Given the description of an element on the screen output the (x, y) to click on. 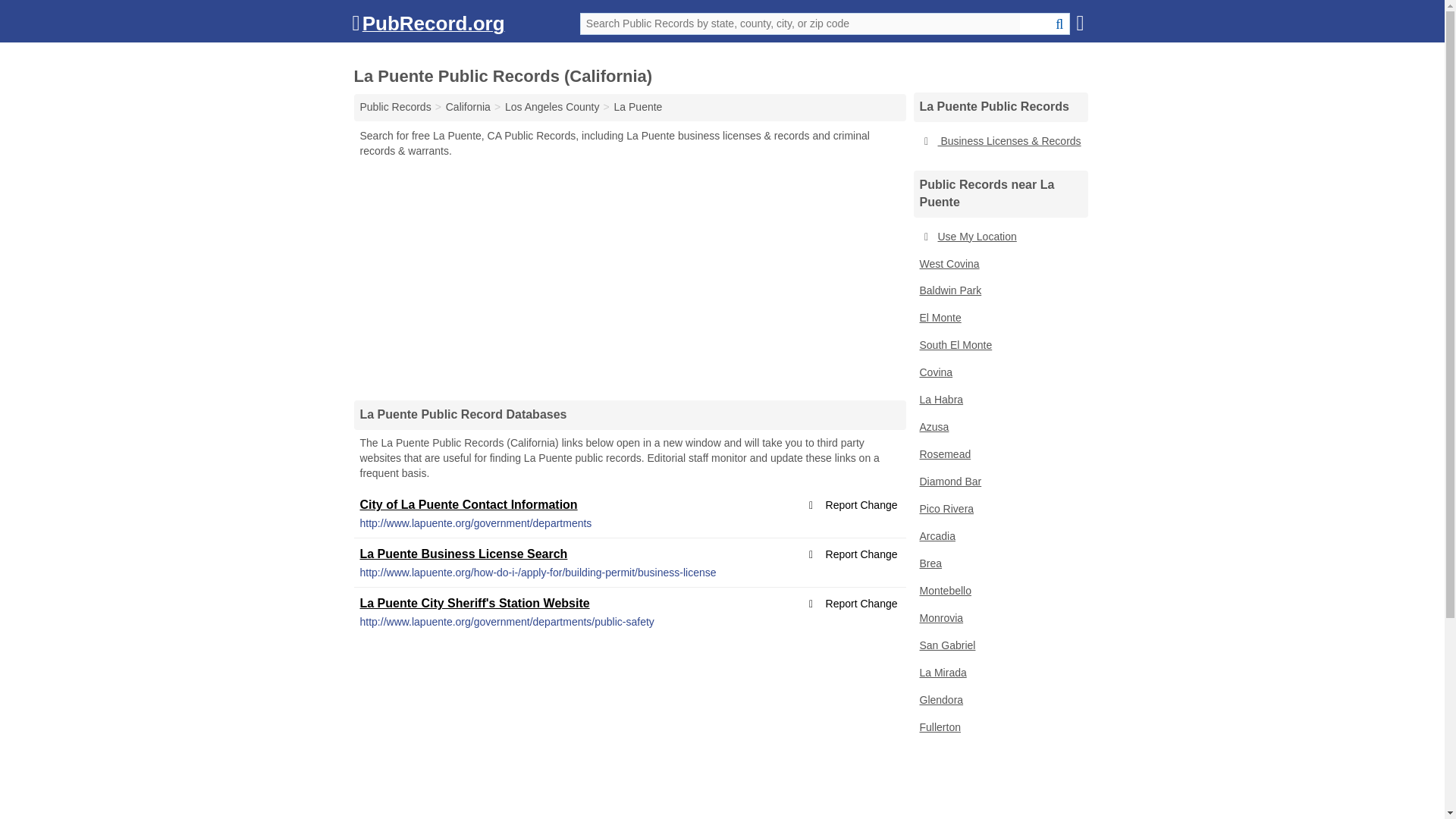
La Puente (638, 106)
Covina (999, 372)
Montebello (999, 591)
Los Angeles County (552, 106)
PubRecord.org (427, 26)
West Covina (999, 263)
PubRecord.org (427, 26)
City of La Puente Contact Information (467, 504)
El Monte (999, 318)
La Puente City Sheriff's Station Website (474, 603)
Rosemead (999, 454)
Azusa (999, 427)
Brea (999, 564)
San Gabriel (999, 646)
Baldwin Park (999, 290)
